Given the description of an element on the screen output the (x, y) to click on. 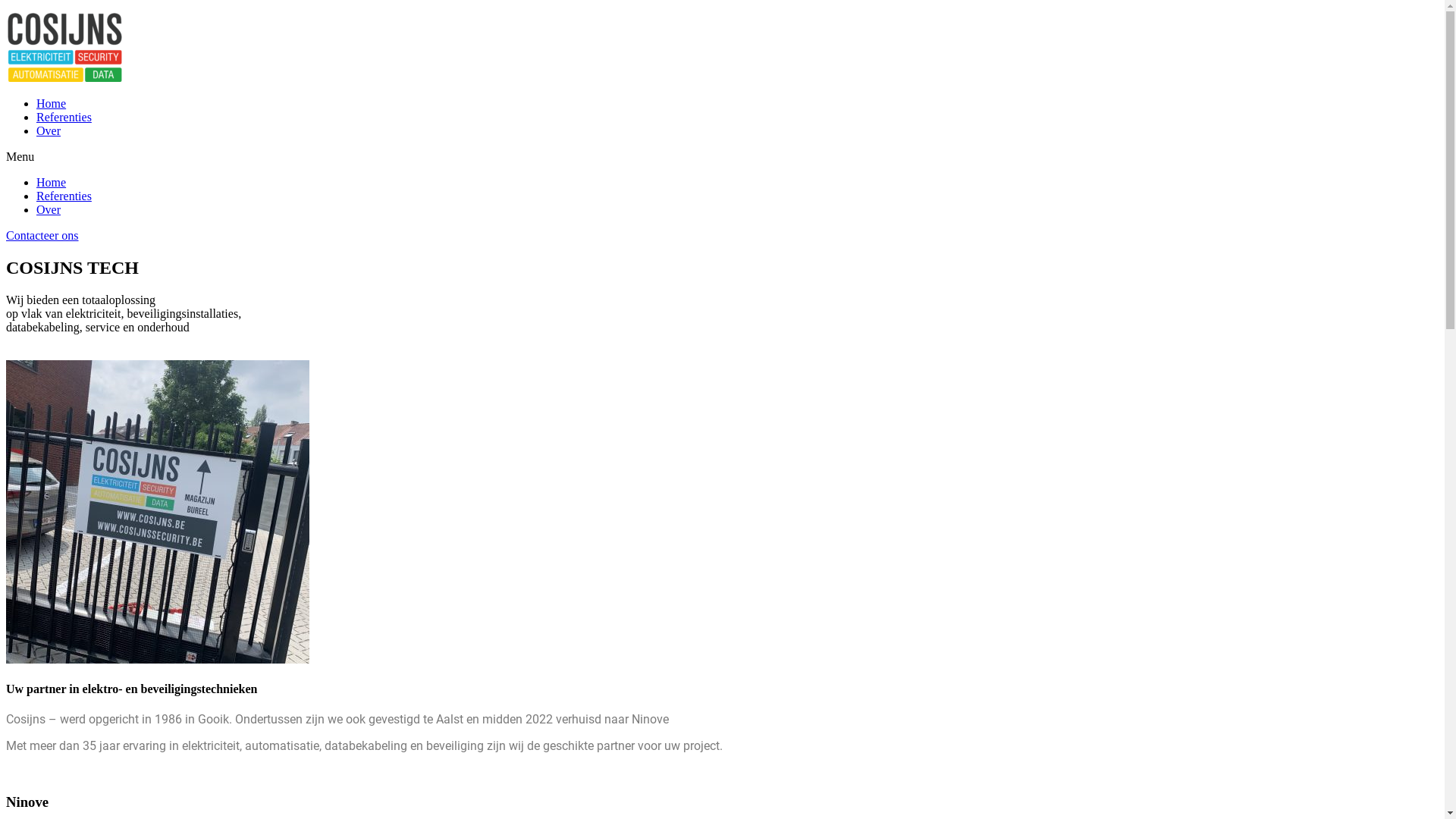
Referenties Element type: text (63, 116)
Referenties Element type: text (63, 195)
Over Element type: text (48, 130)
Contacteer ons Element type: text (42, 235)
Home Element type: text (50, 103)
contact cosijns Element type: hover (157, 511)
Over Element type: text (48, 209)
Home Element type: text (50, 181)
